Given the description of an element on the screen output the (x, y) to click on. 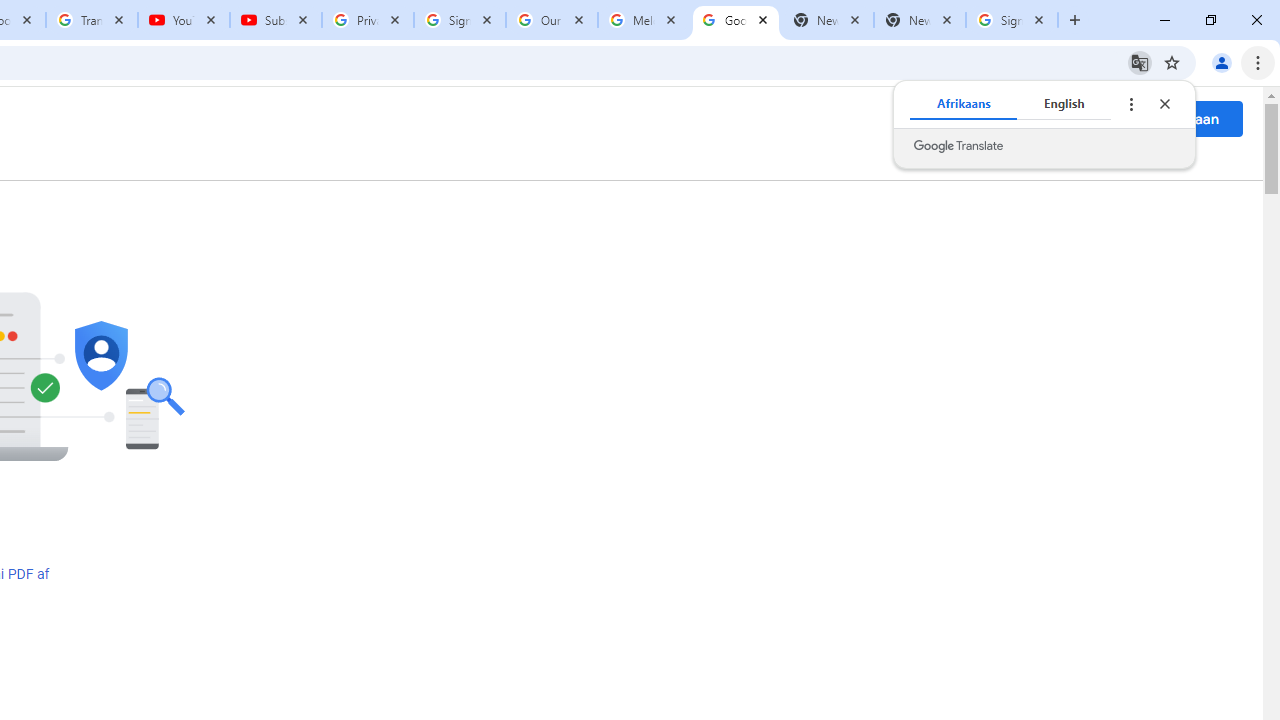
Afrikaans (963, 103)
Sign in - Google Accounts (1012, 20)
Google-programme (1101, 118)
Meld aan (1188, 118)
